Given the description of an element on the screen output the (x, y) to click on. 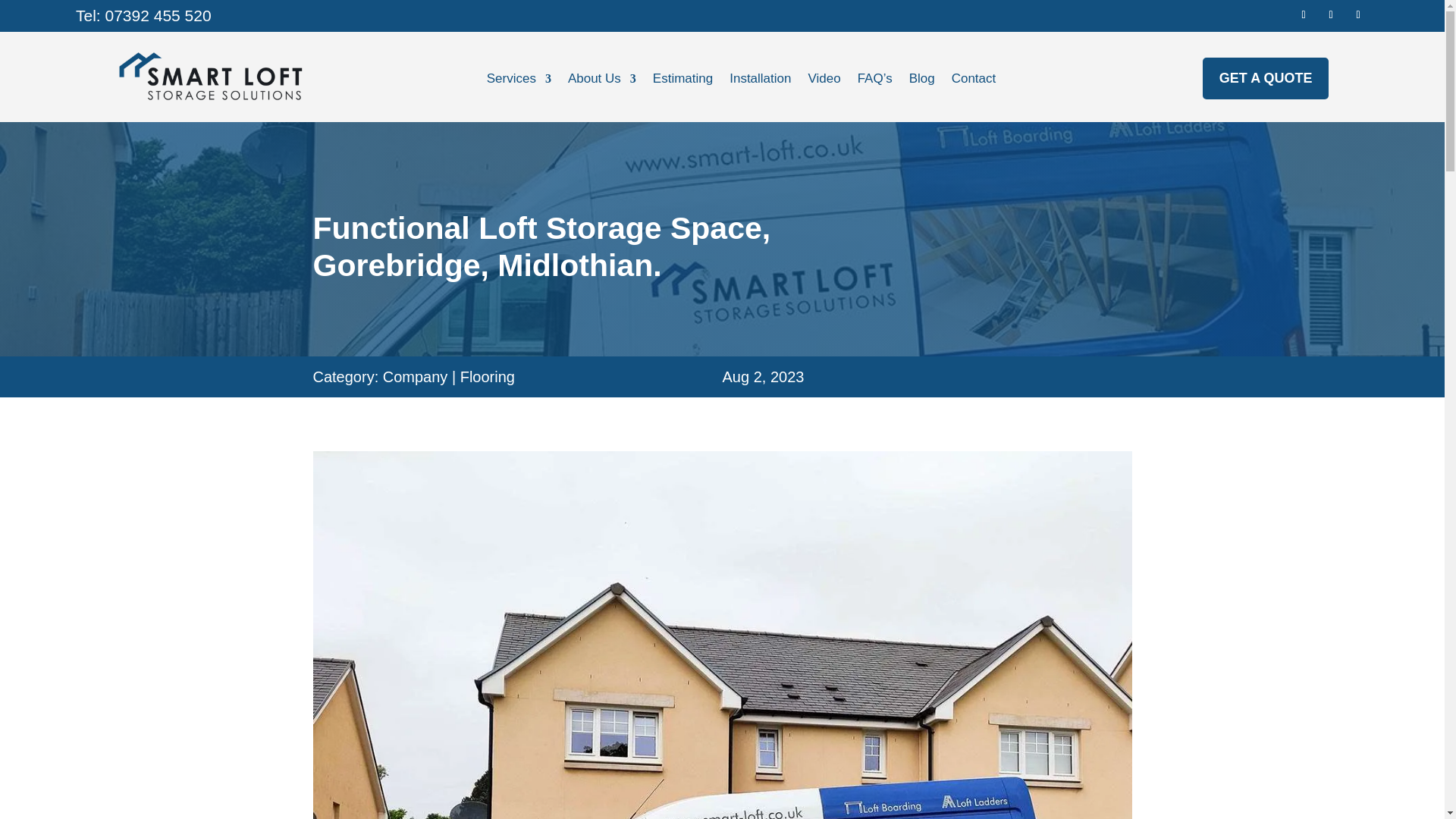
Smart-Loft-Storage-Solutions-Logo-1-768x256 (209, 77)
About Us (601, 81)
Follow on Facebook (1303, 14)
Follow on Instagram (1358, 14)
Services (518, 81)
Estimating (682, 81)
Follow on X (1330, 14)
